Given the description of an element on the screen output the (x, y) to click on. 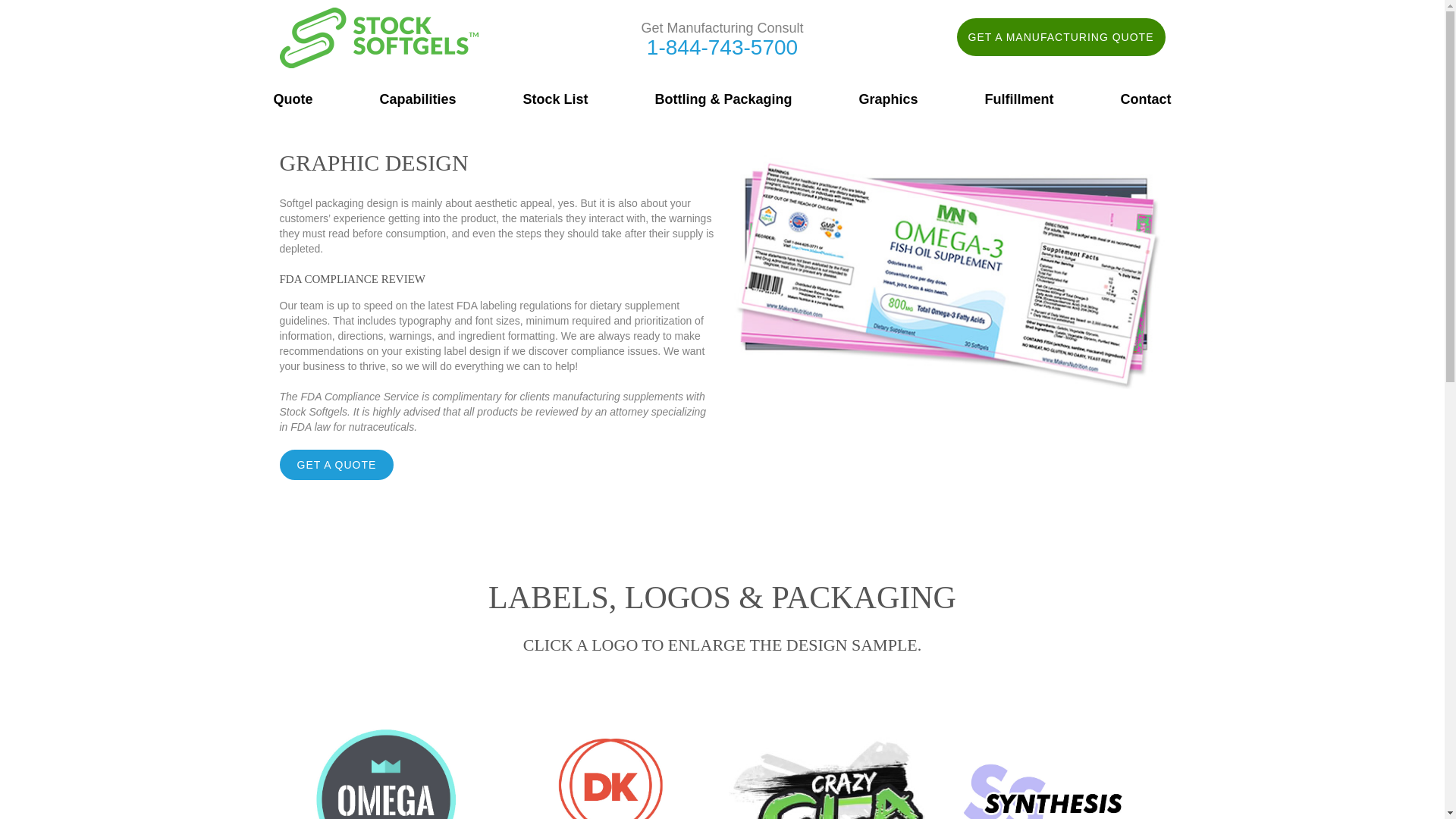
Stock List (555, 99)
Home (378, 15)
Graphics (888, 99)
GET A QUOTE (336, 464)
Graphics (888, 99)
Stock List (555, 99)
Capabilities (416, 99)
Contact (1144, 99)
Capabilities (416, 99)
1-844-743-5700 (721, 47)
